Given the description of an element on the screen output the (x, y) to click on. 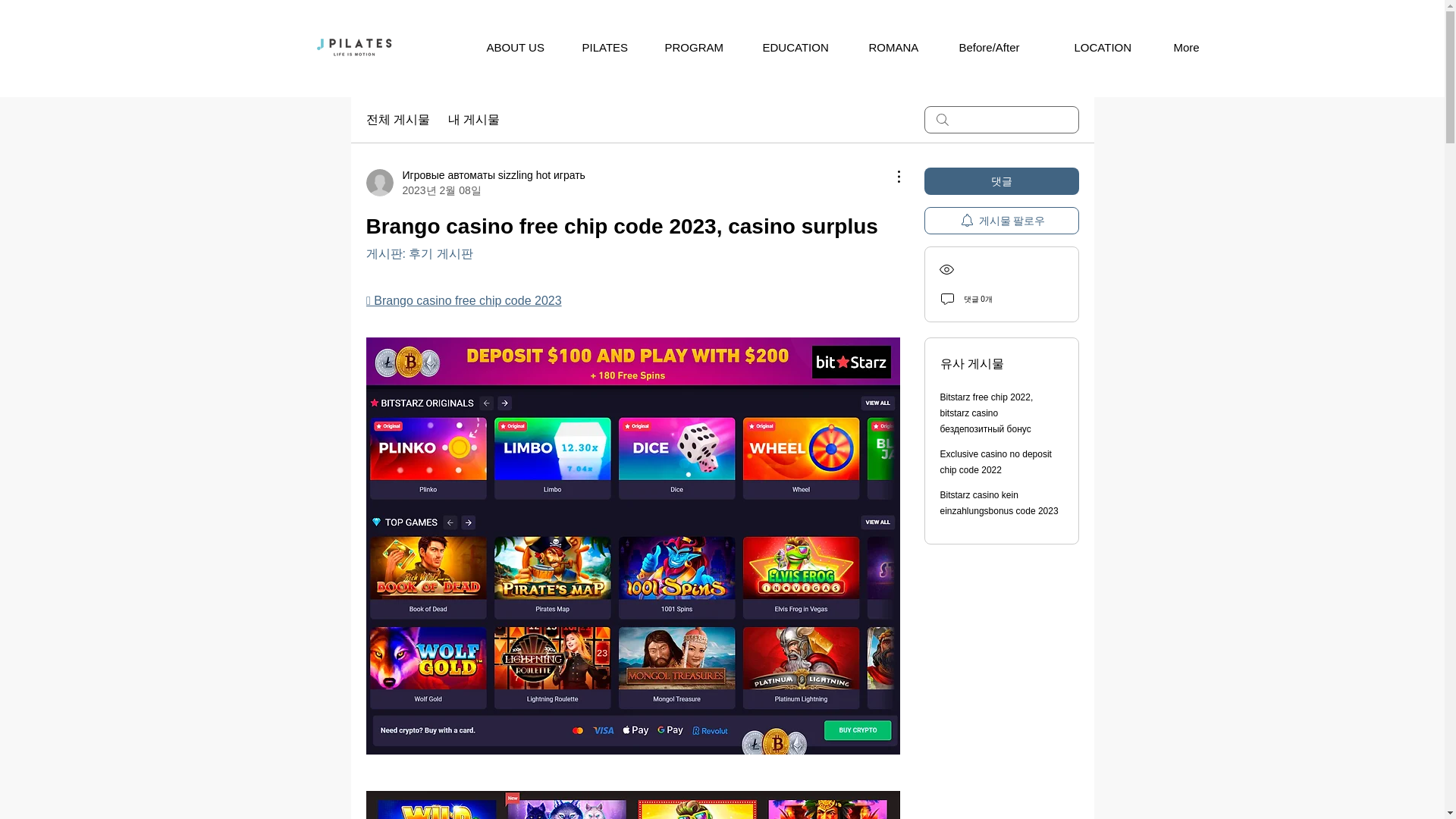
PILATES (603, 46)
ABOUT US (514, 46)
ROMANA (893, 46)
EDUCATION (795, 46)
PROGRAM (695, 46)
LOCATION (1104, 46)
